Given the description of an element on the screen output the (x, y) to click on. 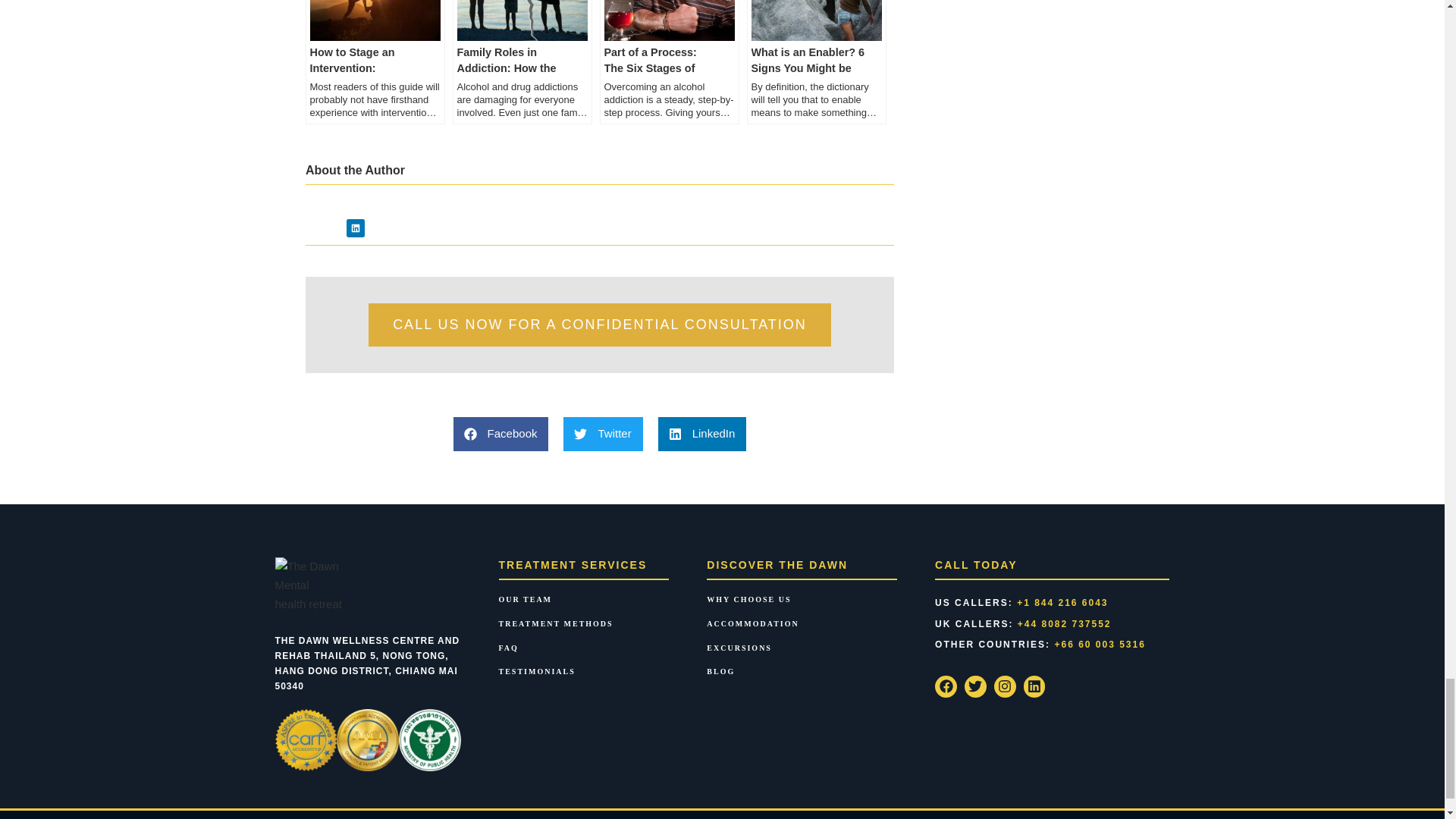
DMCA (317, 793)
How to Stage an Intervention: Essential Steps and Tips (374, 62)
DMCA (298, 775)
What is an Enabler? 6 Signs You Might be Enabling an Addict (815, 62)
Part of a Process: The Six Stages of Alcohol Recovery (668, 62)
dawn-logo-white (308, 527)
